Given the description of an element on the screen output the (x, y) to click on. 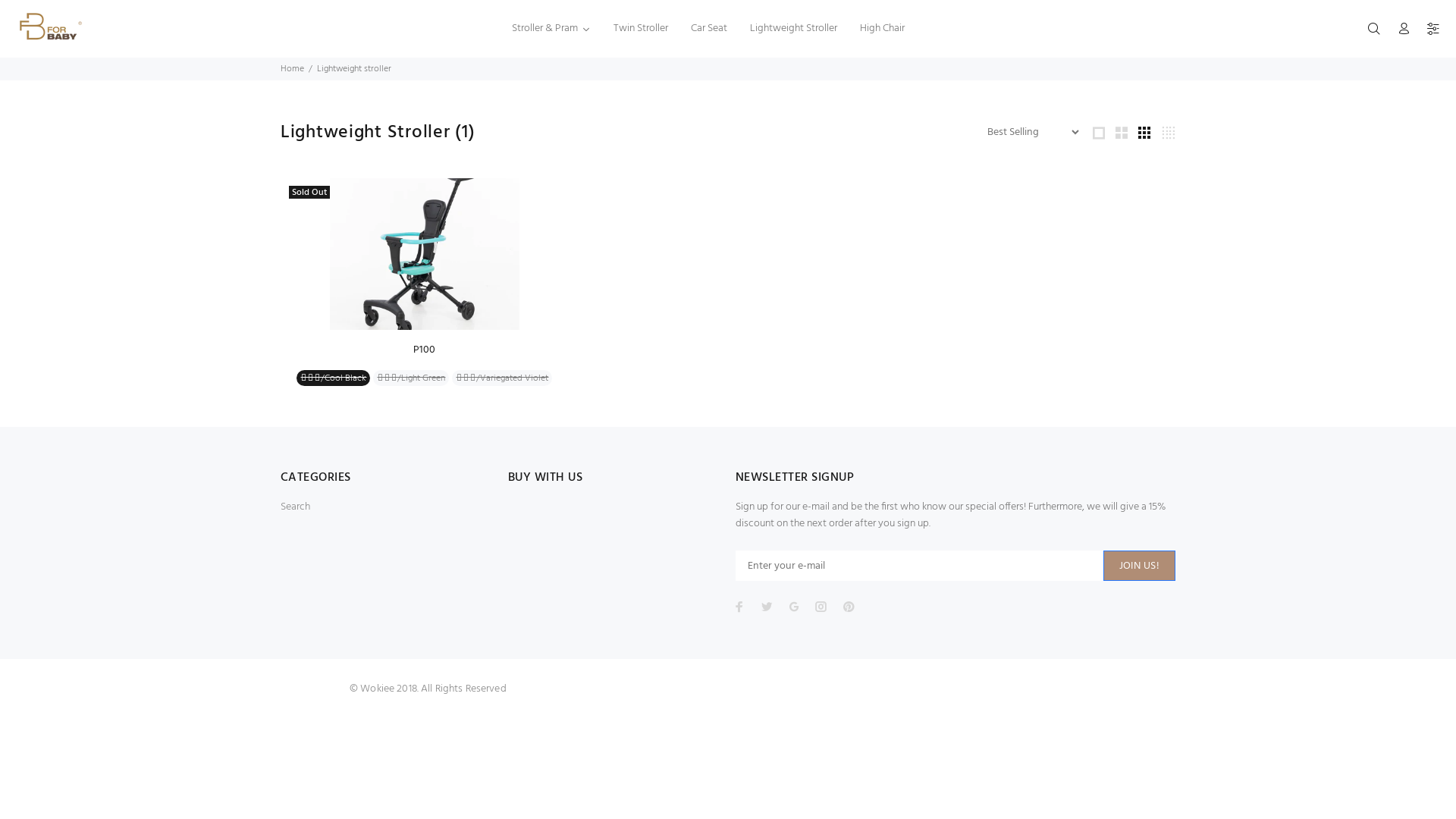
P100 Element type: text (424, 349)
Lightweight Stroller Element type: text (793, 28)
JOIN US! Element type: text (1139, 565)
Twin Stroller Element type: text (640, 28)
Search Element type: text (295, 506)
Stroller & Pram Element type: text (551, 28)
Sold Out Element type: text (424, 253)
High Chair Element type: text (882, 28)
Wokiee Element type: text (311, 684)
Car Seat Element type: text (708, 28)
Home Element type: text (292, 68)
